Given the description of an element on the screen output the (x, y) to click on. 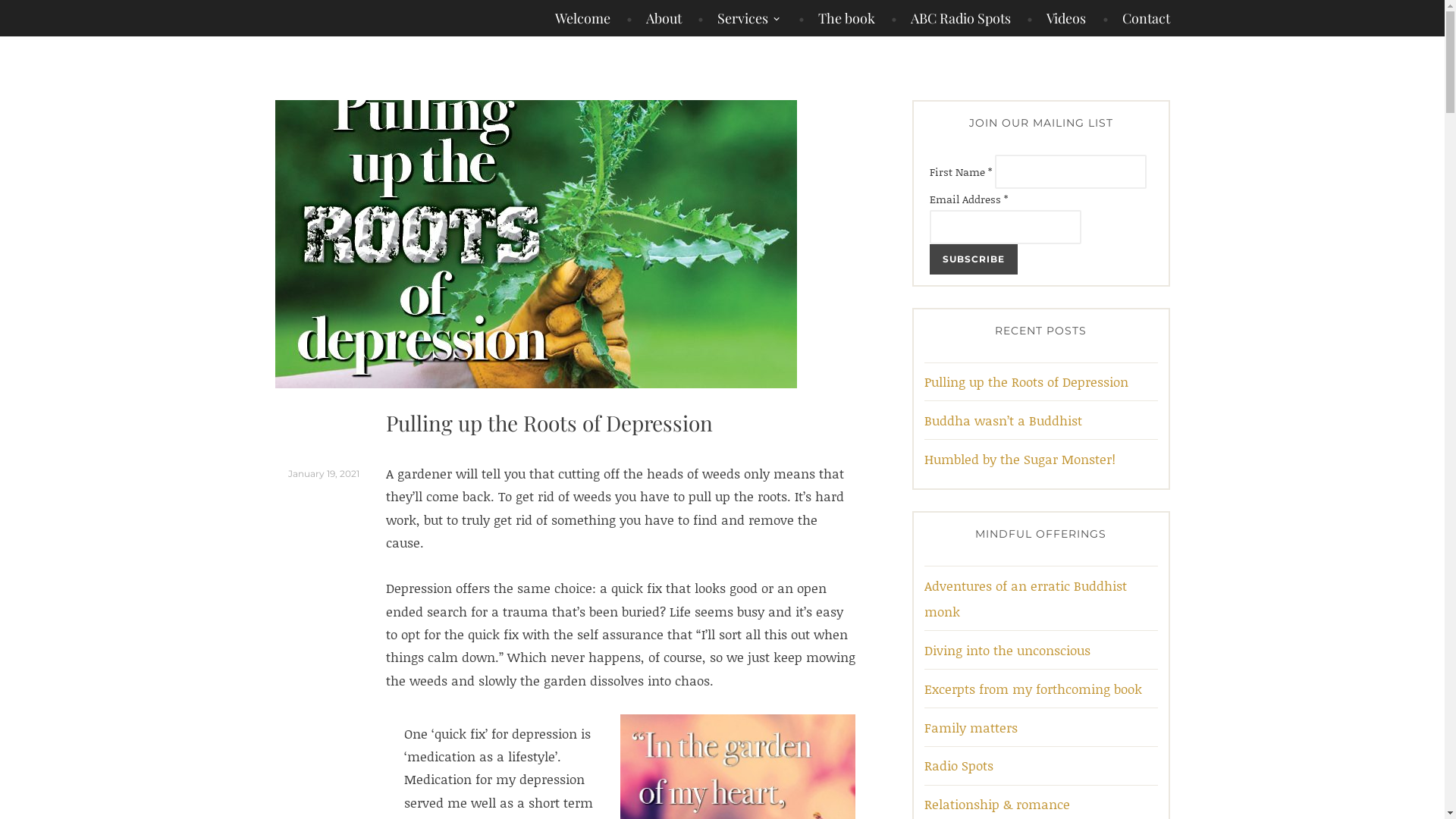
January 19, 2021 Element type: text (323, 473)
Relationship & romance Element type: text (996, 803)
Services Element type: text (739, 18)
About Element type: text (653, 18)
Excerpts from my forthcoming book Element type: text (1032, 688)
Videos Element type: text (1055, 18)
Subscribe Element type: text (973, 259)
Pulling up the Roots of Depression Element type: text (548, 423)
The book Element type: text (836, 18)
Welcome Element type: text (582, 18)
Diving into the unconscious Element type: text (1006, 649)
Humbled by the Sugar Monster! Element type: text (1018, 458)
Pulling up the Roots of Depression Element type: text (1025, 381)
ABC Radio Spots Element type: text (950, 18)
Family matters Element type: text (969, 727)
Radio Spots Element type: text (957, 765)
Adventures of an erratic Buddhist monk Element type: text (1024, 598)
Contact Element type: text (1136, 18)
